Given the description of an element on the screen output the (x, y) to click on. 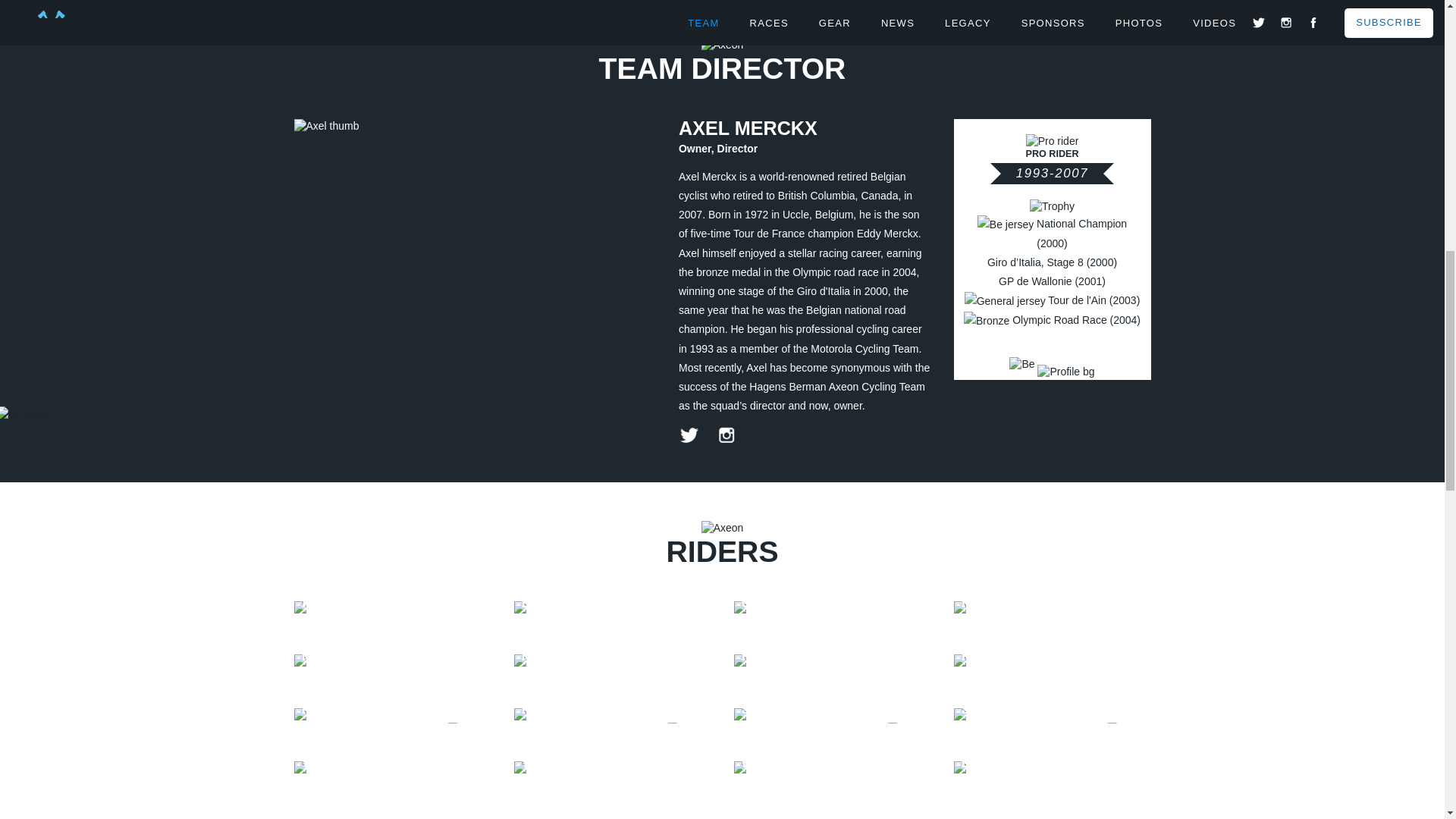
PARHAM (832, 661)
BOYLE (612, 608)
MACKELLAR (393, 661)
COLE (832, 608)
ANDERSEN (393, 608)
MACKENZIE (612, 661)
PLACE (1052, 661)
